Given the description of an element on the screen output the (x, y) to click on. 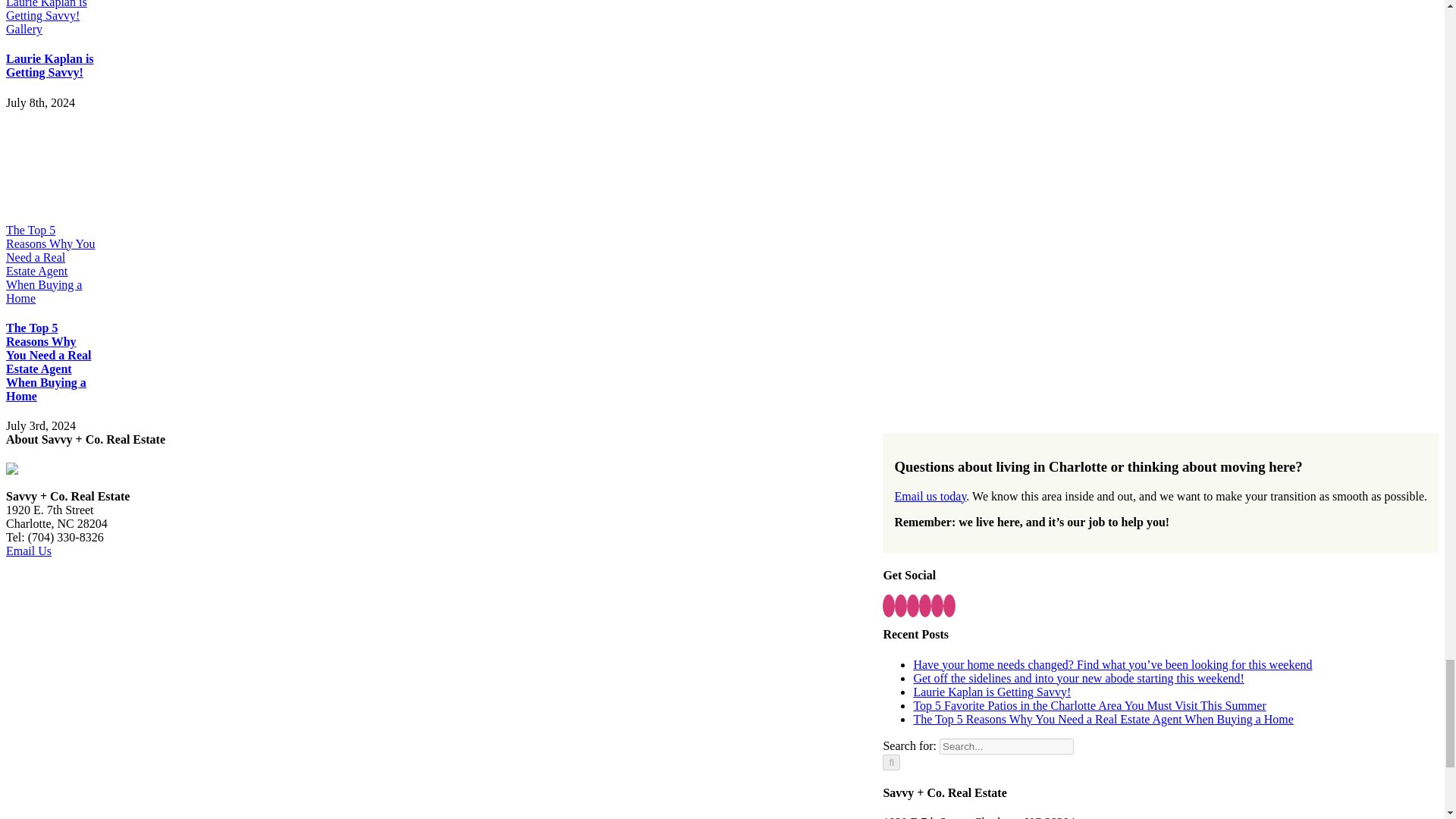
Laurie Kaplan is Getting Savvy! (49, 65)
